Given the description of an element on the screen output the (x, y) to click on. 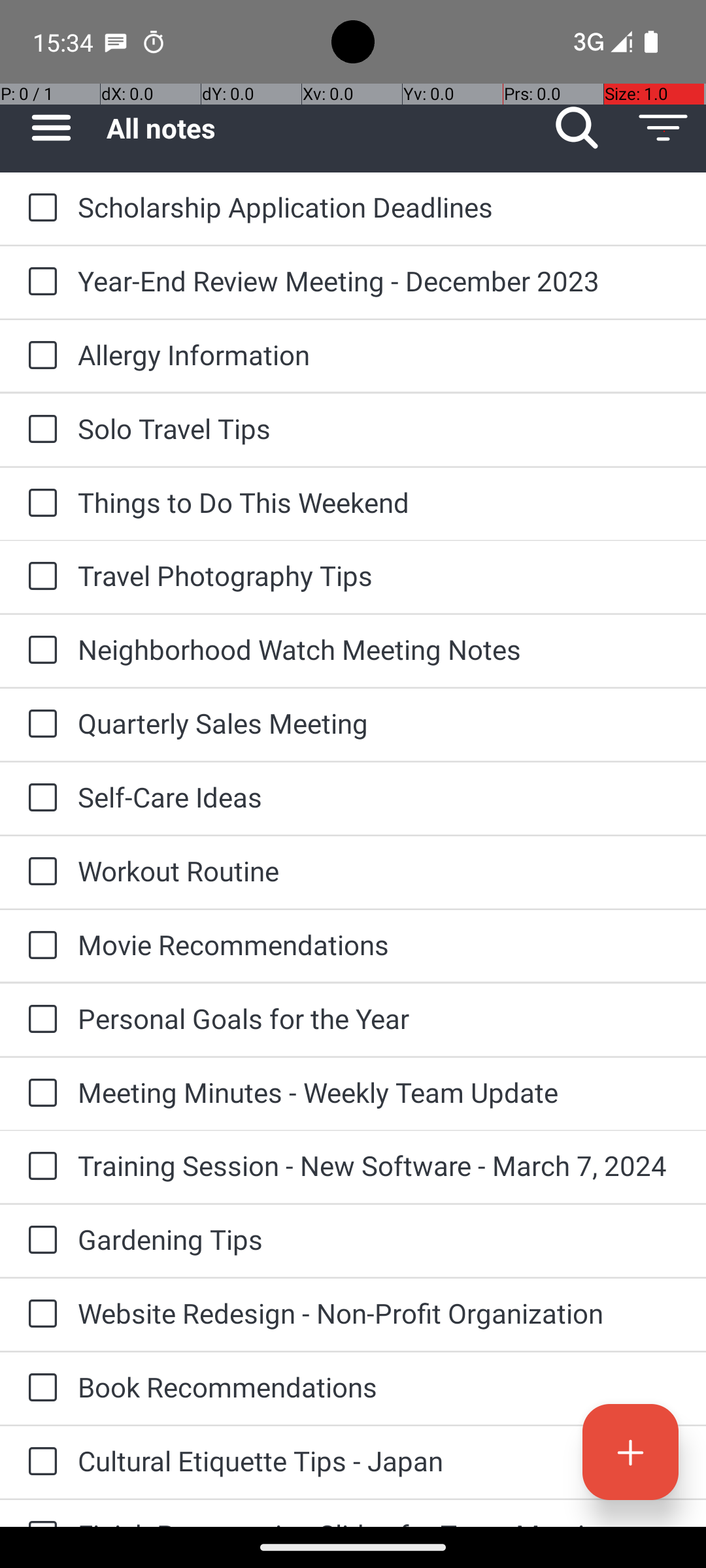
to-do: Scholarship Application Deadlines Element type: android.widget.CheckBox (38, 208)
Scholarship Application Deadlines Element type: android.widget.TextView (378, 206)
to-do: Year-End Review Meeting - December 2023 Element type: android.widget.CheckBox (38, 282)
Year-End Review Meeting - December 2023 Element type: android.widget.TextView (378, 280)
to-do: Allergy Information Element type: android.widget.CheckBox (38, 356)
Allergy Information Element type: android.widget.TextView (378, 354)
to-do: Solo Travel Tips Element type: android.widget.CheckBox (38, 429)
Solo Travel Tips Element type: android.widget.TextView (378, 427)
to-do: Things to Do This Weekend Element type: android.widget.CheckBox (38, 503)
Things to Do This Weekend Element type: android.widget.TextView (378, 501)
to-do: Travel Photography Tips Element type: android.widget.CheckBox (38, 576)
Travel Photography Tips Element type: android.widget.TextView (378, 574)
to-do: Neighborhood Watch Meeting Notes Element type: android.widget.CheckBox (38, 650)
Neighborhood Watch Meeting Notes Element type: android.widget.TextView (378, 648)
to-do: Quarterly Sales Meeting Element type: android.widget.CheckBox (38, 724)
Quarterly Sales Meeting Element type: android.widget.TextView (378, 722)
to-do: Self-Care Ideas Element type: android.widget.CheckBox (38, 798)
Self-Care Ideas Element type: android.widget.TextView (378, 796)
to-do: Workout Routine Element type: android.widget.CheckBox (38, 872)
Workout Routine Element type: android.widget.TextView (378, 870)
to-do: Movie Recommendations Element type: android.widget.CheckBox (38, 945)
Movie Recommendations Element type: android.widget.TextView (378, 944)
to-do: Personal Goals for the Year Element type: android.widget.CheckBox (38, 1019)
Personal Goals for the Year Element type: android.widget.TextView (378, 1017)
to-do: Meeting Minutes - Weekly Team Update Element type: android.widget.CheckBox (38, 1093)
Meeting Minutes - Weekly Team Update Element type: android.widget.TextView (378, 1091)
to-do: Training Session - New Software - March 7, 2024 Element type: android.widget.CheckBox (38, 1166)
Training Session - New Software - March 7, 2024 Element type: android.widget.TextView (378, 1164)
to-do: Gardening Tips Element type: android.widget.CheckBox (38, 1240)
Gardening Tips Element type: android.widget.TextView (378, 1238)
to-do: Website Redesign - Non-Profit Organization Element type: android.widget.CheckBox (38, 1314)
Website Redesign - Non-Profit Organization Element type: android.widget.TextView (378, 1312)
to-do: Book Recommendations Element type: android.widget.CheckBox (38, 1388)
Book Recommendations Element type: android.widget.TextView (378, 1386)
to-do: Cultural Etiquette Tips - Japan Element type: android.widget.CheckBox (38, 1462)
Cultural Etiquette Tips - Japan Element type: android.widget.TextView (378, 1460)
to-do: Finish Presentation Slides for Team Meeting Element type: android.widget.CheckBox (38, 1513)
Finish Presentation Slides for Team Meeting Element type: android.widget.TextView (378, 1520)
